Given the description of an element on the screen output the (x, y) to click on. 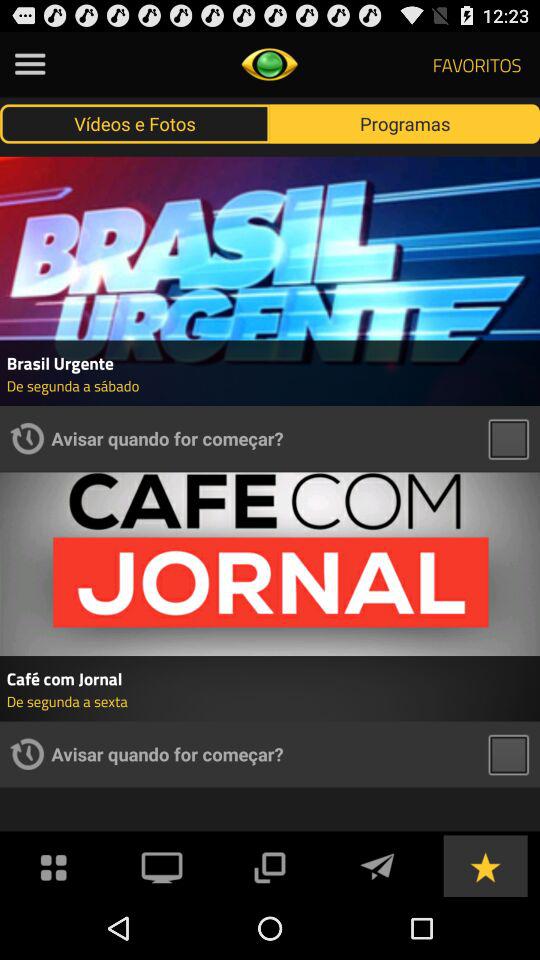
flip until brasil urgente item (269, 362)
